Given the description of an element on the screen output the (x, y) to click on. 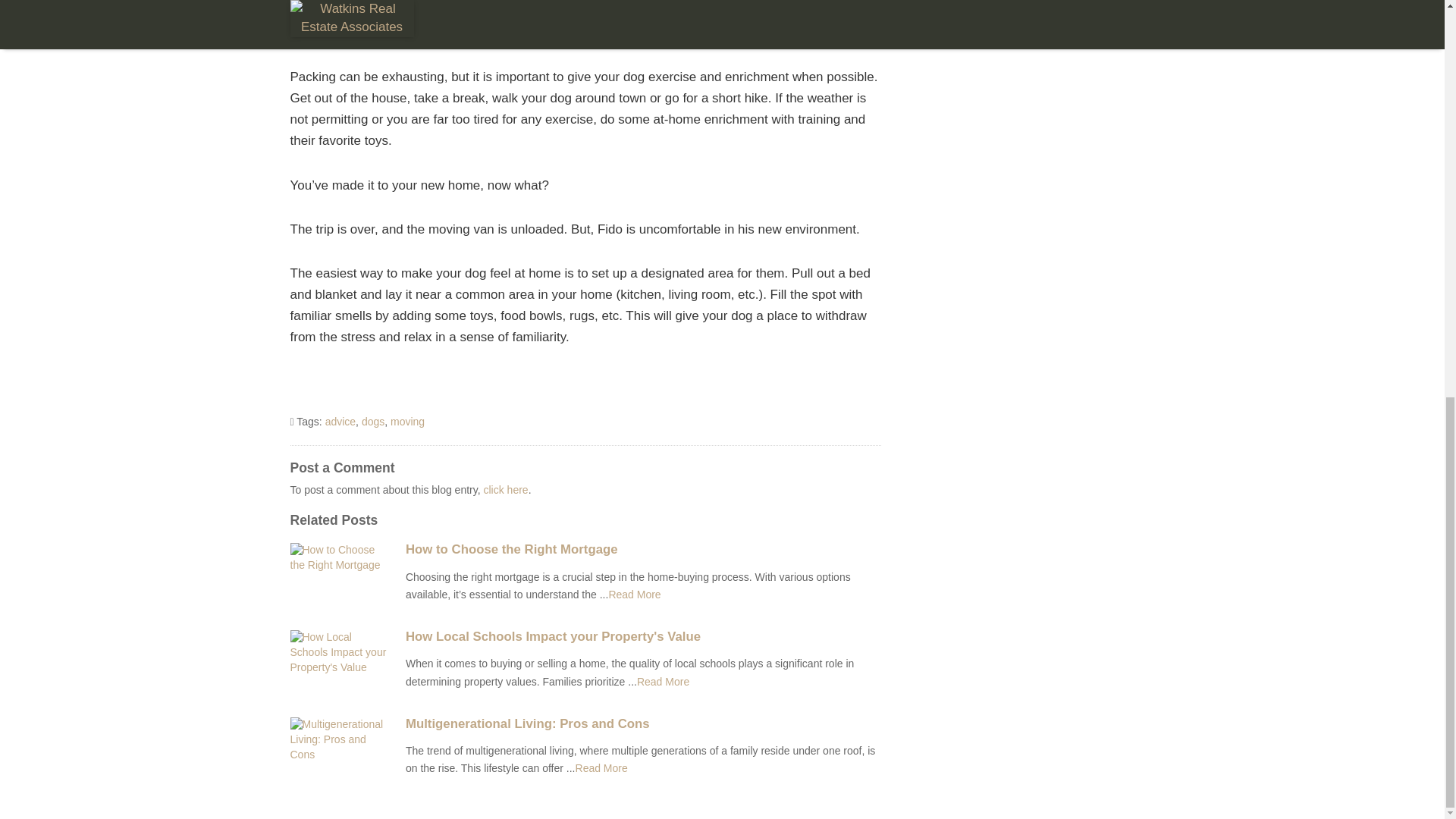
How to Choose the Right Mortgage (643, 549)
Moving with Dogs (634, 594)
Moving with Dogs (662, 681)
How Local Schools Impact your Property's Value (643, 636)
Moving with Dogs (601, 767)
Multigenerational Living: Pros and Cons (643, 724)
